Given the description of an element on the screen output the (x, y) to click on. 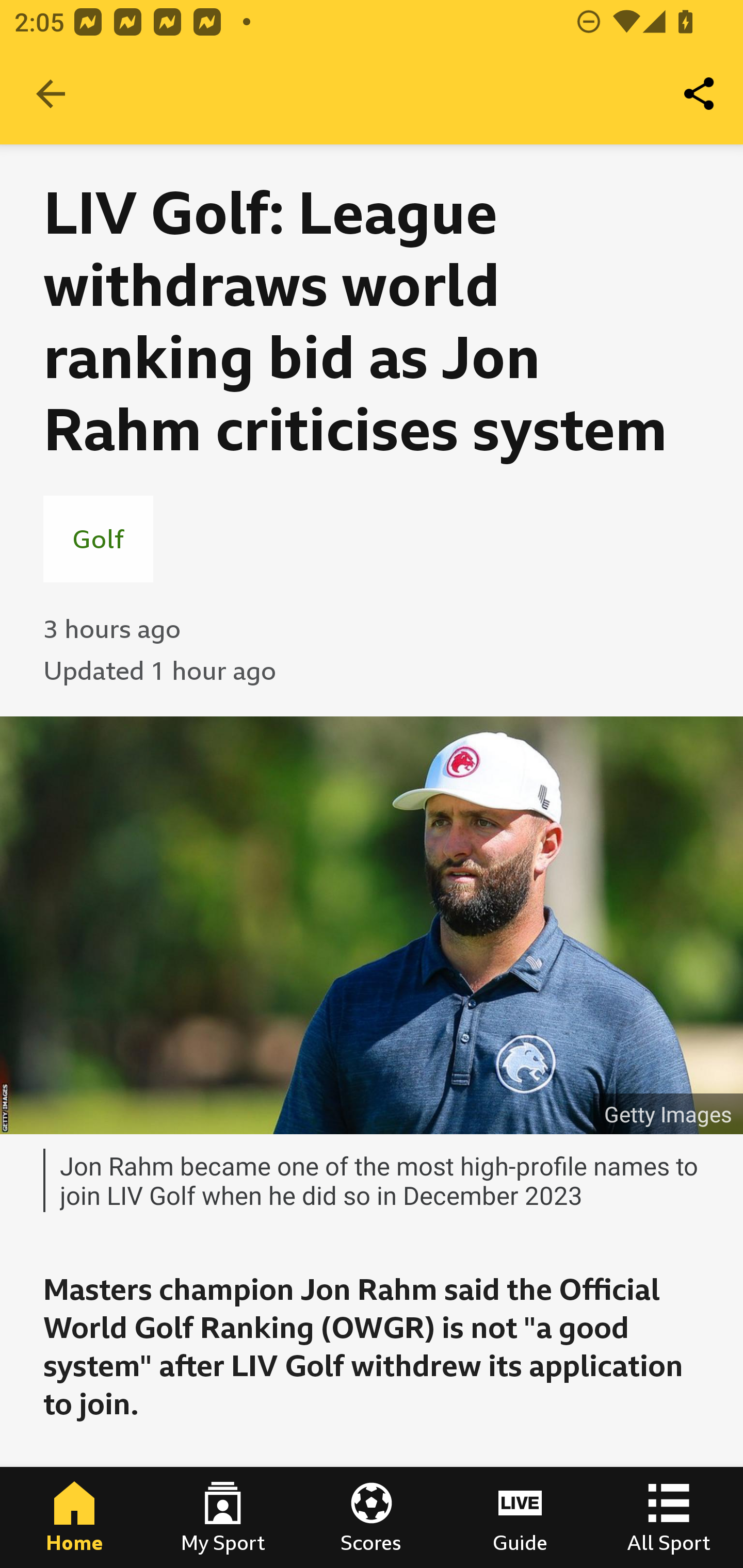
Navigate up (50, 93)
Share (699, 93)
Golf (98, 538)
My Sport (222, 1517)
Scores (371, 1517)
Guide (519, 1517)
All Sport (668, 1517)
